Given the description of an element on the screen output the (x, y) to click on. 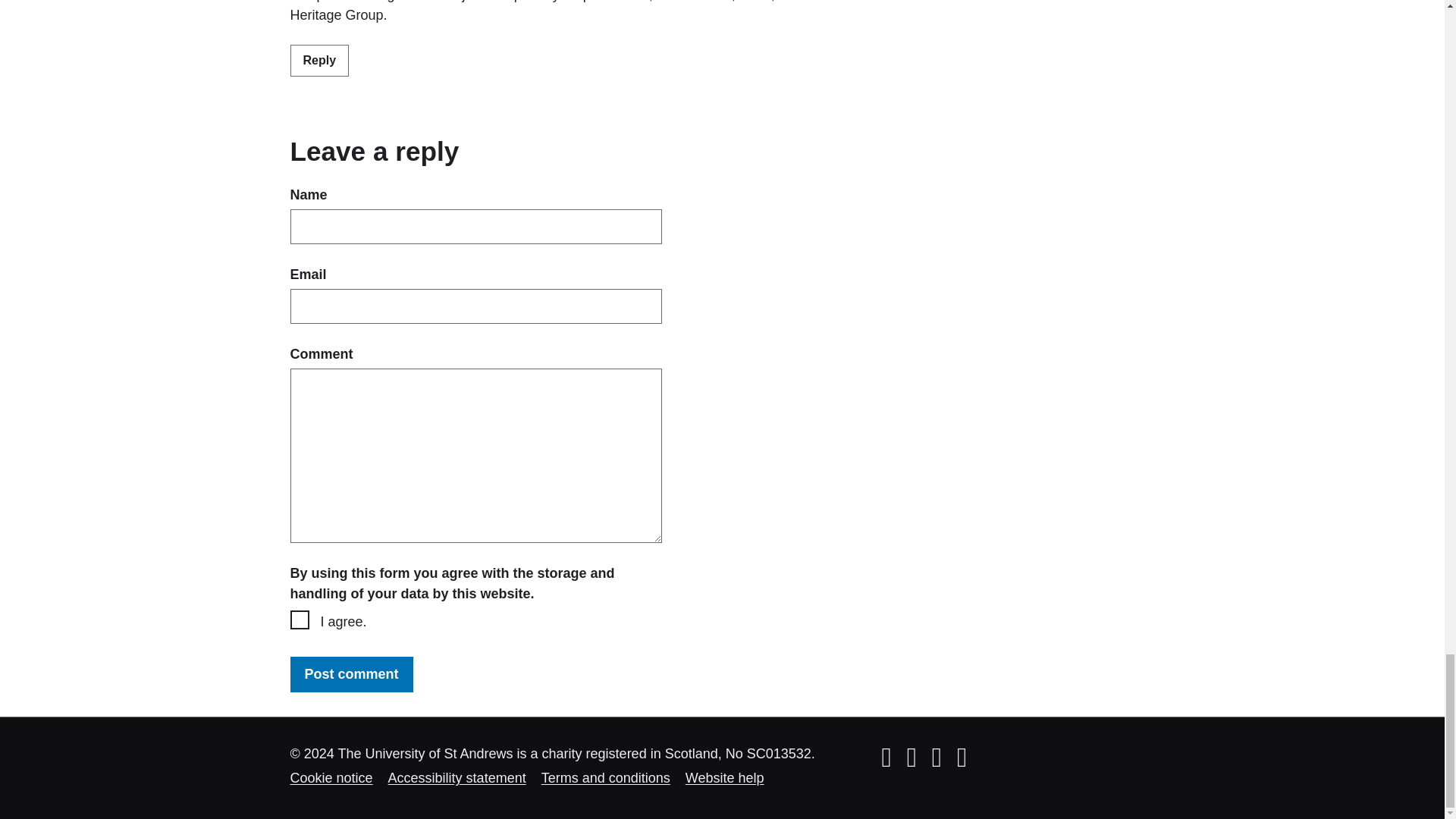
Cookie notice (330, 777)
Reply (319, 60)
Post comment (350, 674)
